Given the description of an element on the screen output the (x, y) to click on. 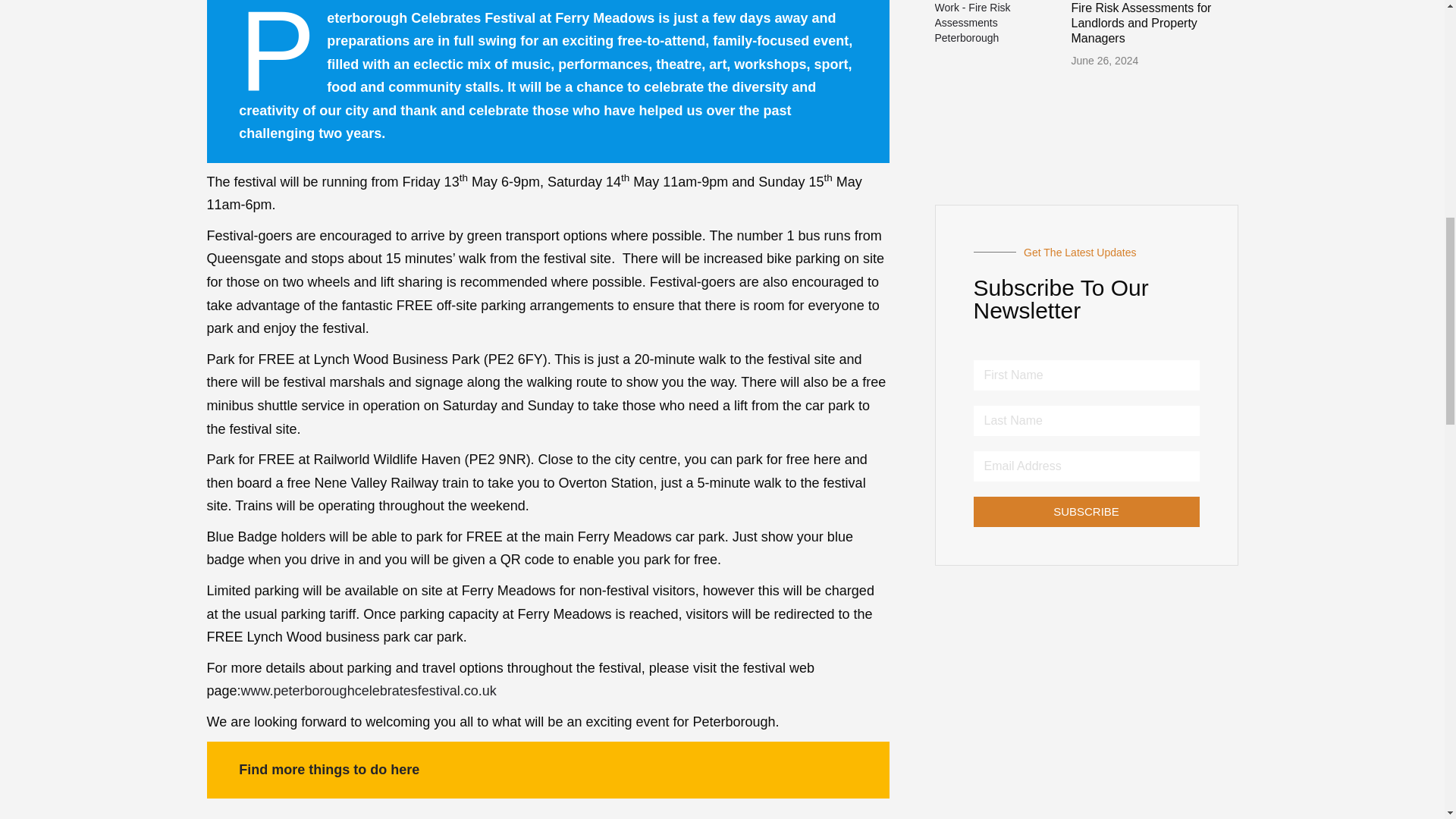
Find more things to do here (328, 769)
www.peterboroughcelebratesfestival.co.uk (368, 690)
SUBSCRIBE (1086, 511)
Fire Risk Assessments for Landlords and Property Managers (1140, 23)
